Given the description of an element on the screen output the (x, y) to click on. 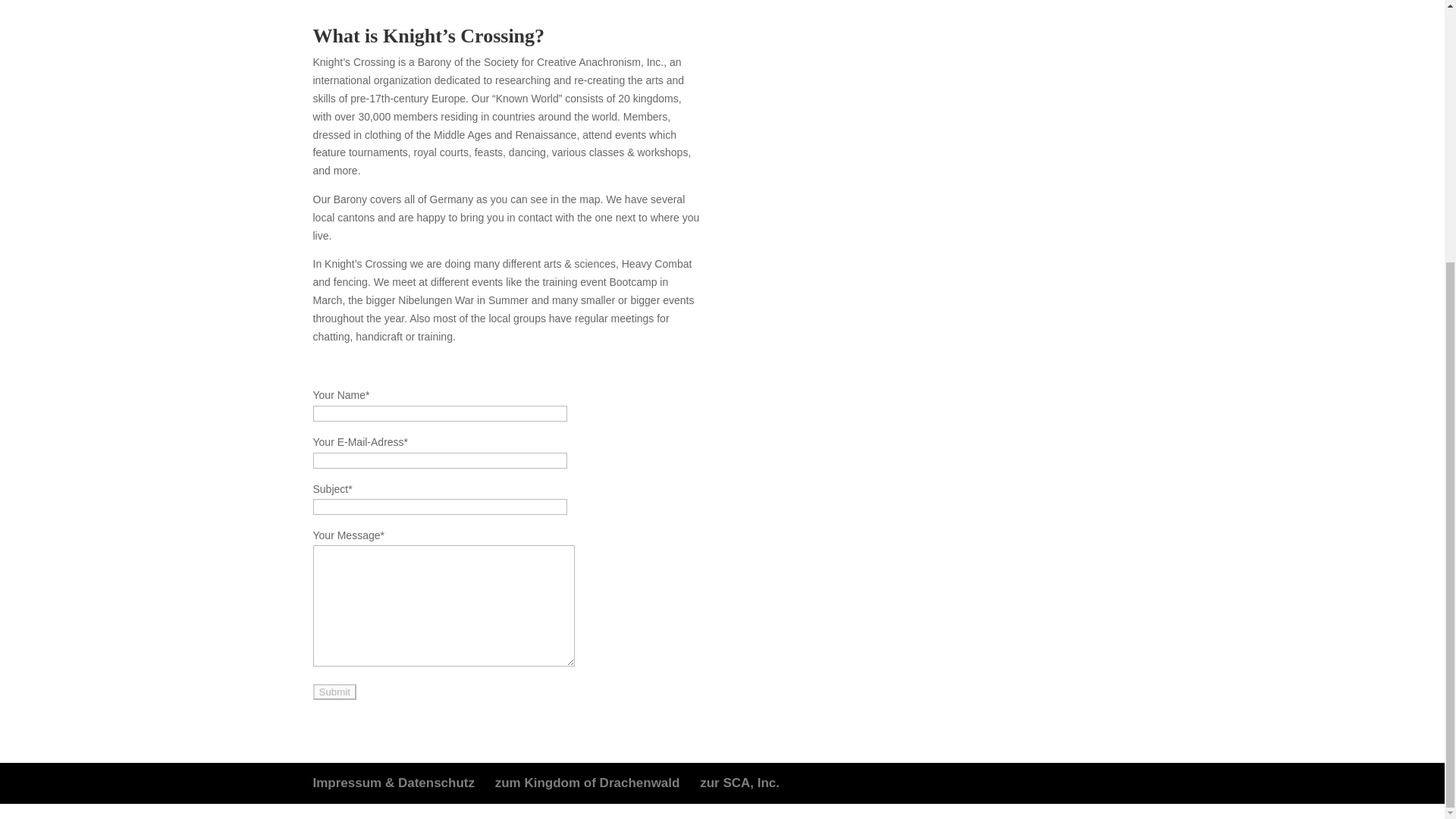
zum Kingdom of Drachenwald (587, 782)
Submit (334, 691)
Submit (334, 691)
zur SCA, Inc. (739, 782)
